Given the description of an element on the screen output the (x, y) to click on. 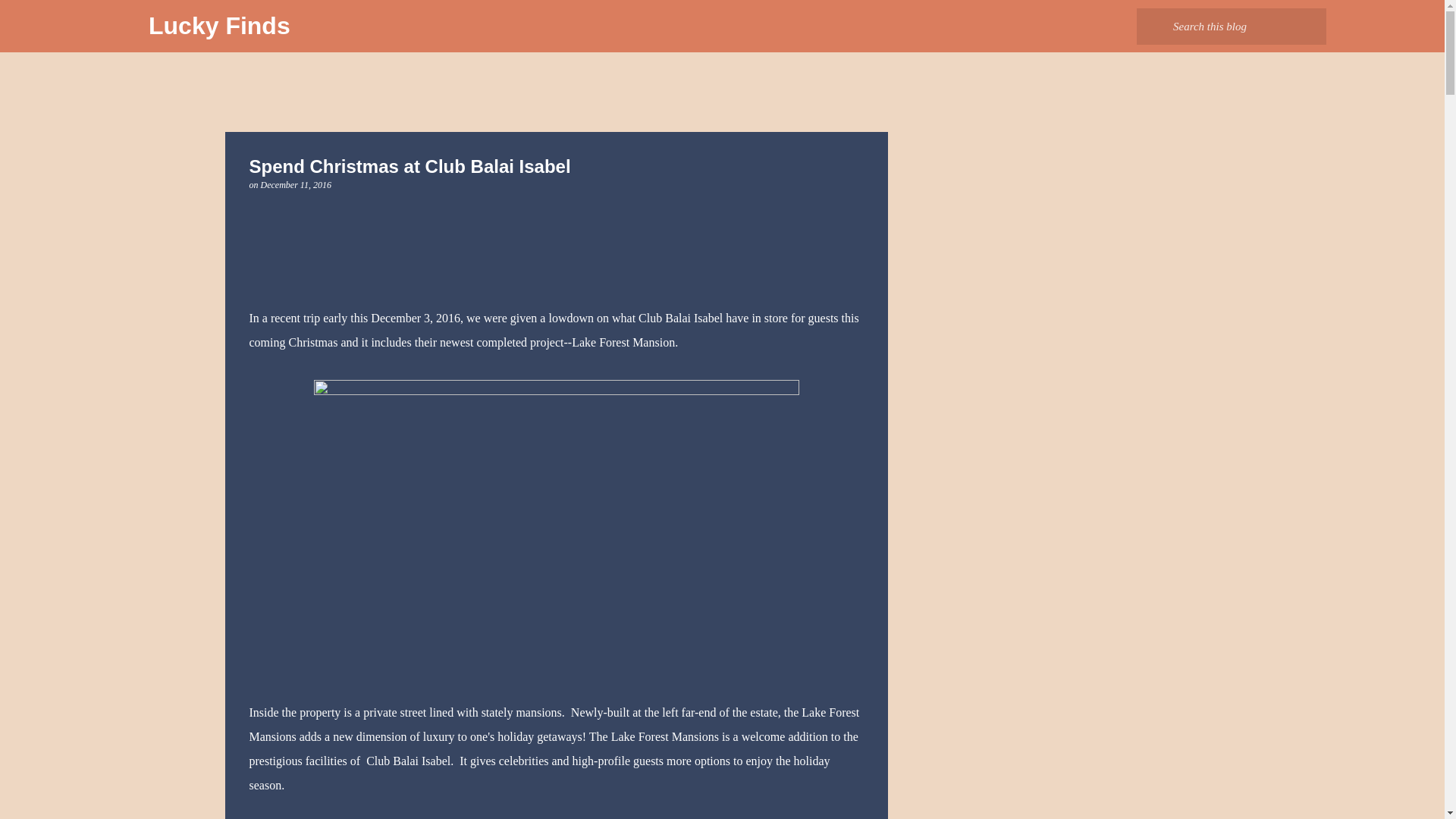
Lucky Finds (218, 25)
permanent link (295, 184)
December 11, 2016 (295, 184)
